Given the description of an element on the screen output the (x, y) to click on. 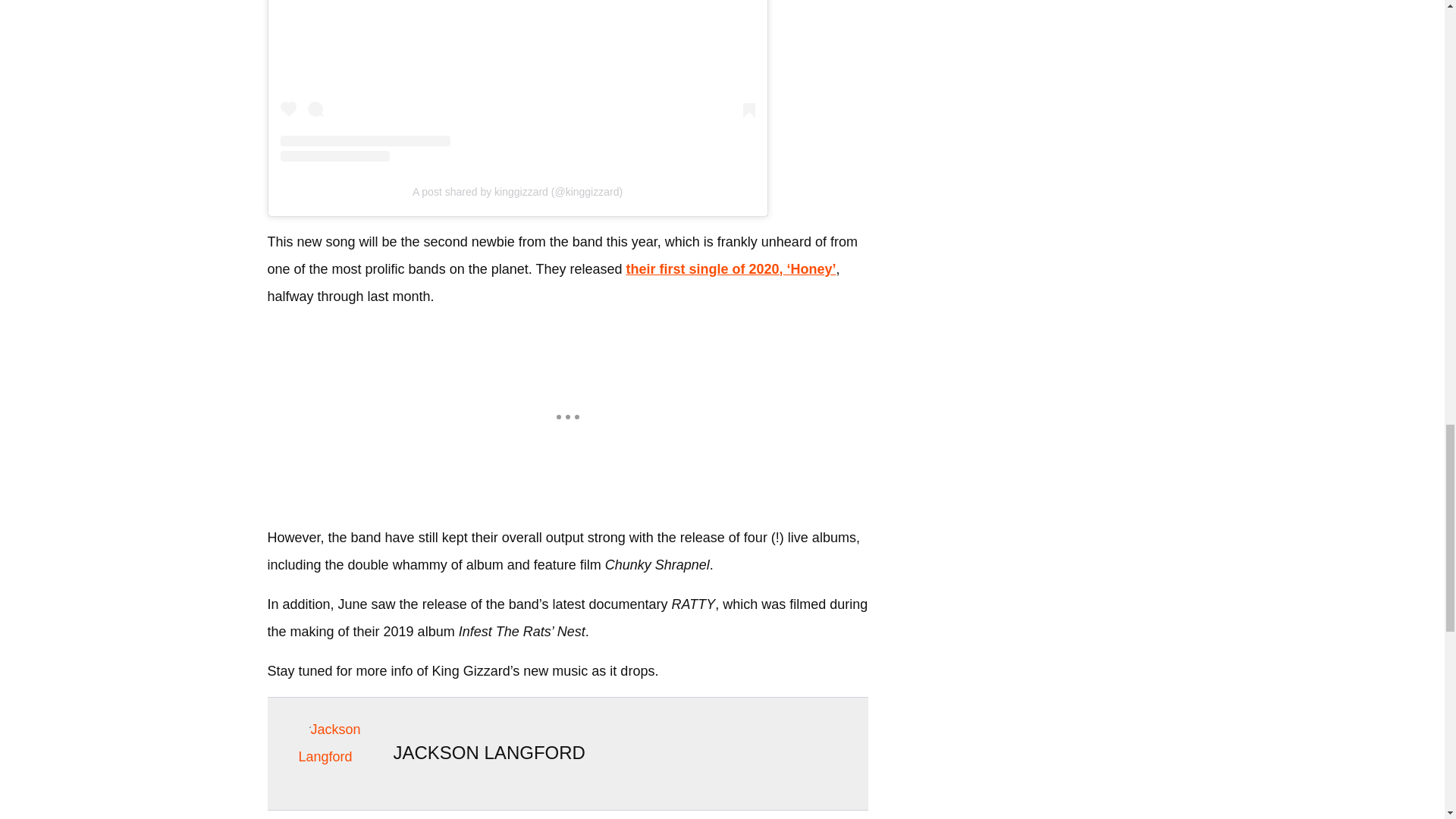
View this post on Instagram (518, 80)
JACKSON LANGFORD (489, 752)
